Given the description of an element on the screen output the (x, y) to click on. 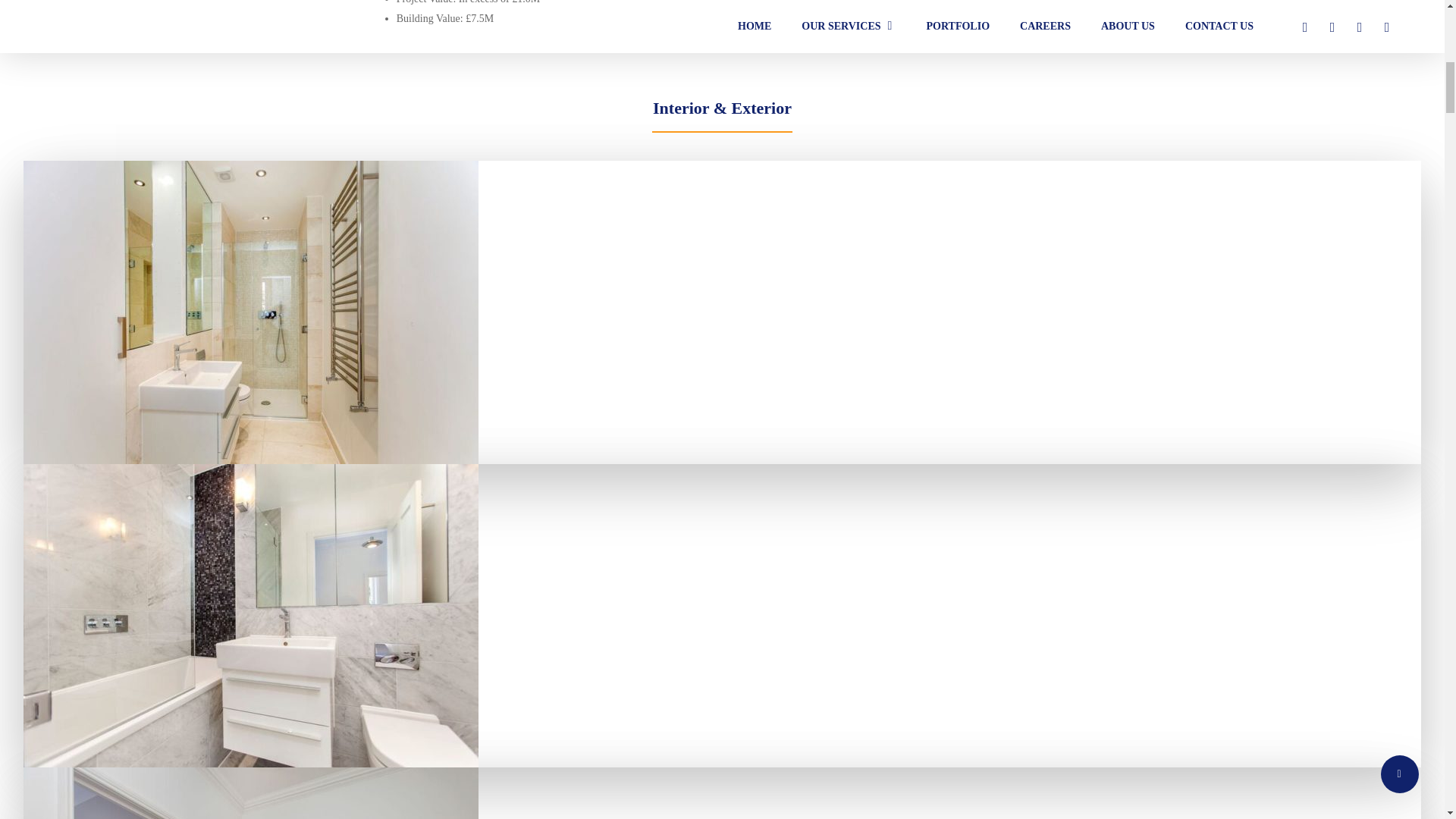
islington-12 (251, 793)
